Given the description of an element on the screen output the (x, y) to click on. 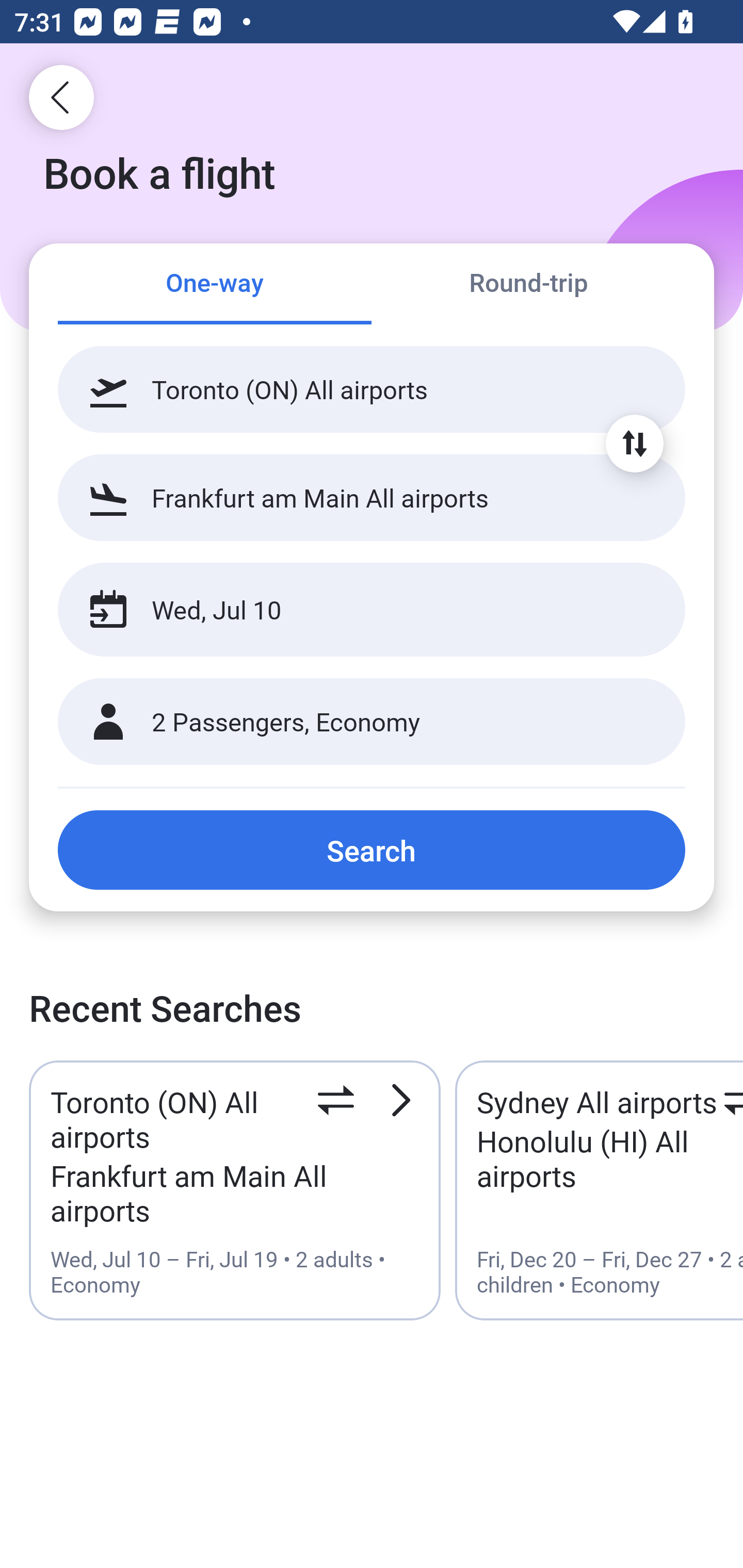
Round-trip (528, 284)
Toronto (ON) All airports (371, 389)
Frankfurt am Main All airports (371, 497)
Wed, Jul 10 (349, 609)
2 Passengers, Economy (371, 721)
Search (371, 849)
